Given the description of an element on the screen output the (x, y) to click on. 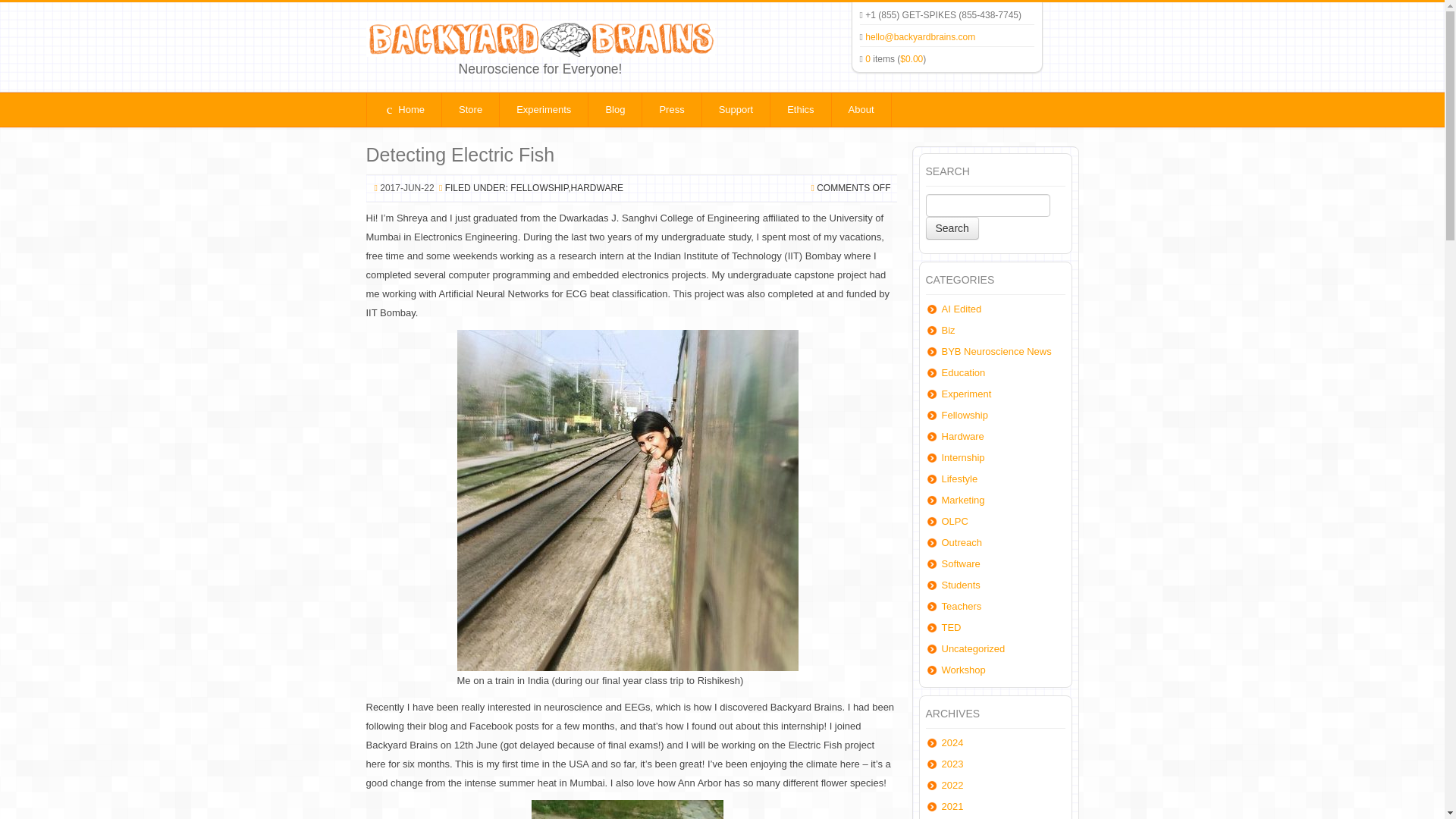
Hardware (963, 436)
Ethics (799, 109)
Store (470, 109)
Detecting Electric Fish (459, 154)
Marketing (963, 500)
Fellowship (965, 414)
Internship (963, 457)
BYB Neuroscience News (996, 351)
Lifestyle (960, 478)
FELLOWSHIP (539, 187)
Biz (948, 329)
About (861, 109)
Support (735, 109)
OLPC (955, 521)
COMMENTS OFF (852, 187)
